Given the description of an element on the screen output the (x, y) to click on. 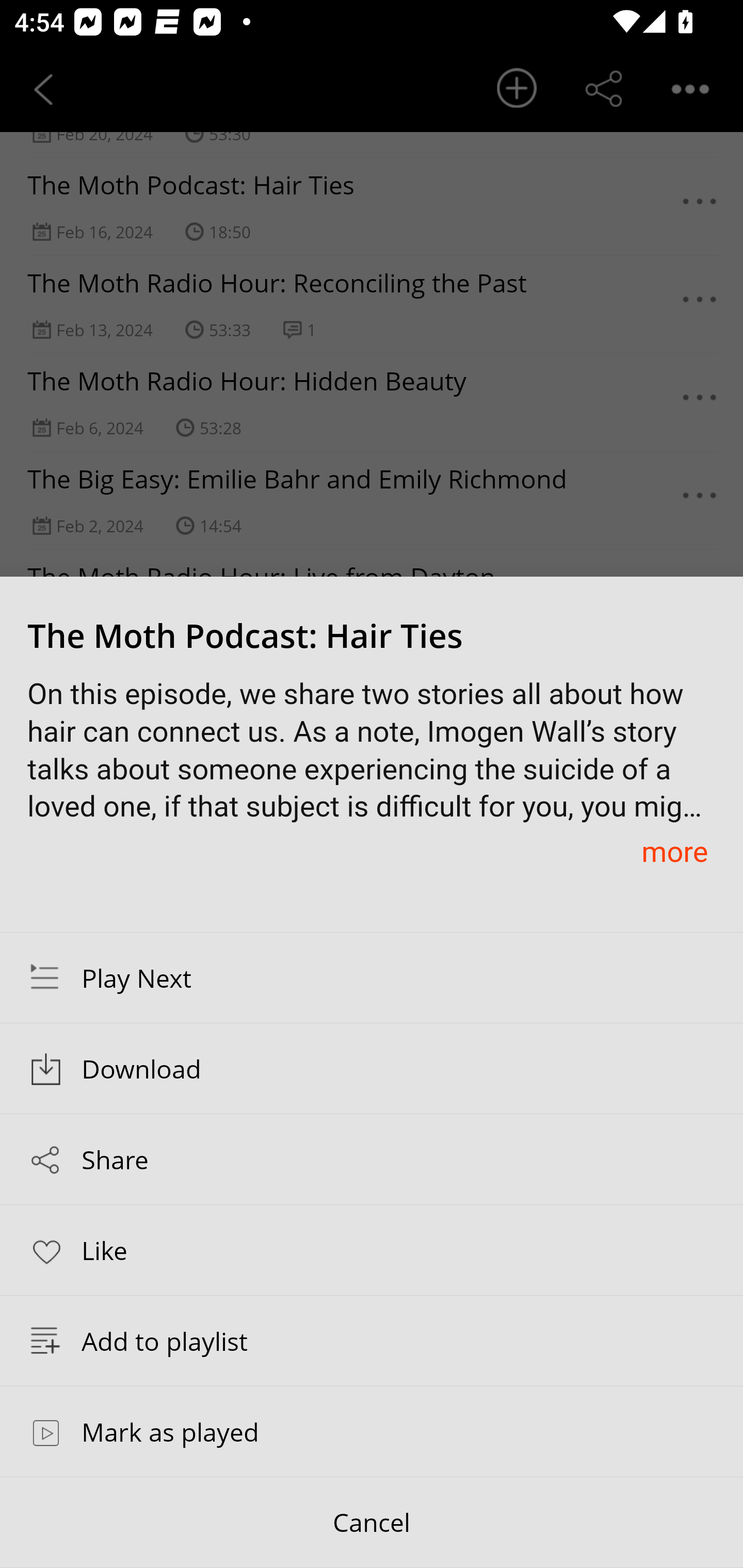
more (674, 851)
Play Next (371, 977)
Download (371, 1068)
Share (371, 1159)
Like (371, 1249)
Add to playlist (371, 1340)
Mark as played (371, 1431)
Cancel (371, 1522)
